Given the description of an element on the screen output the (x, y) to click on. 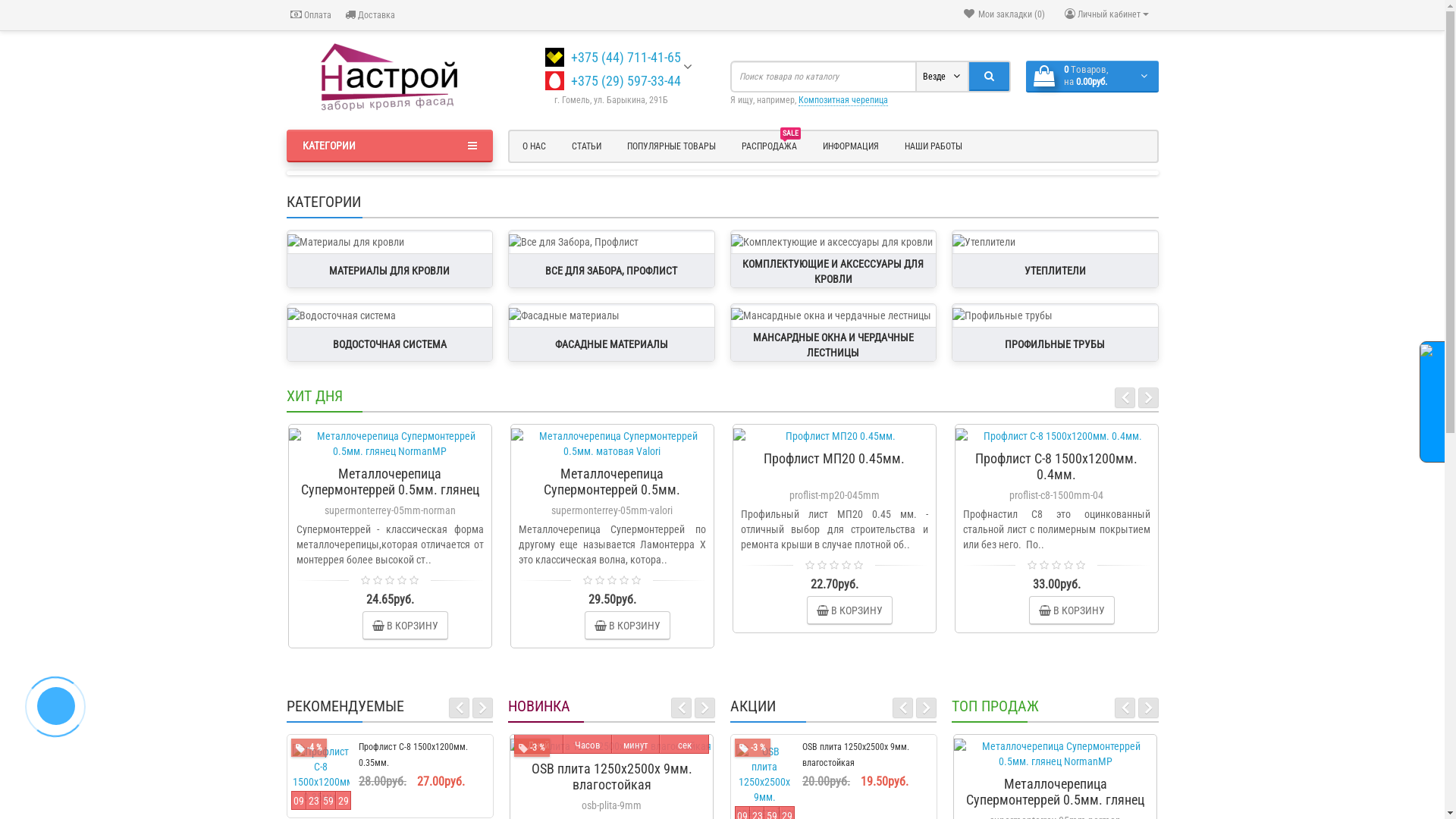
+375 (44) 711-41-65 Element type: text (625, 57)
+375 (29) 597-33-44 Element type: text (625, 80)
